Given the description of an element on the screen output the (x, y) to click on. 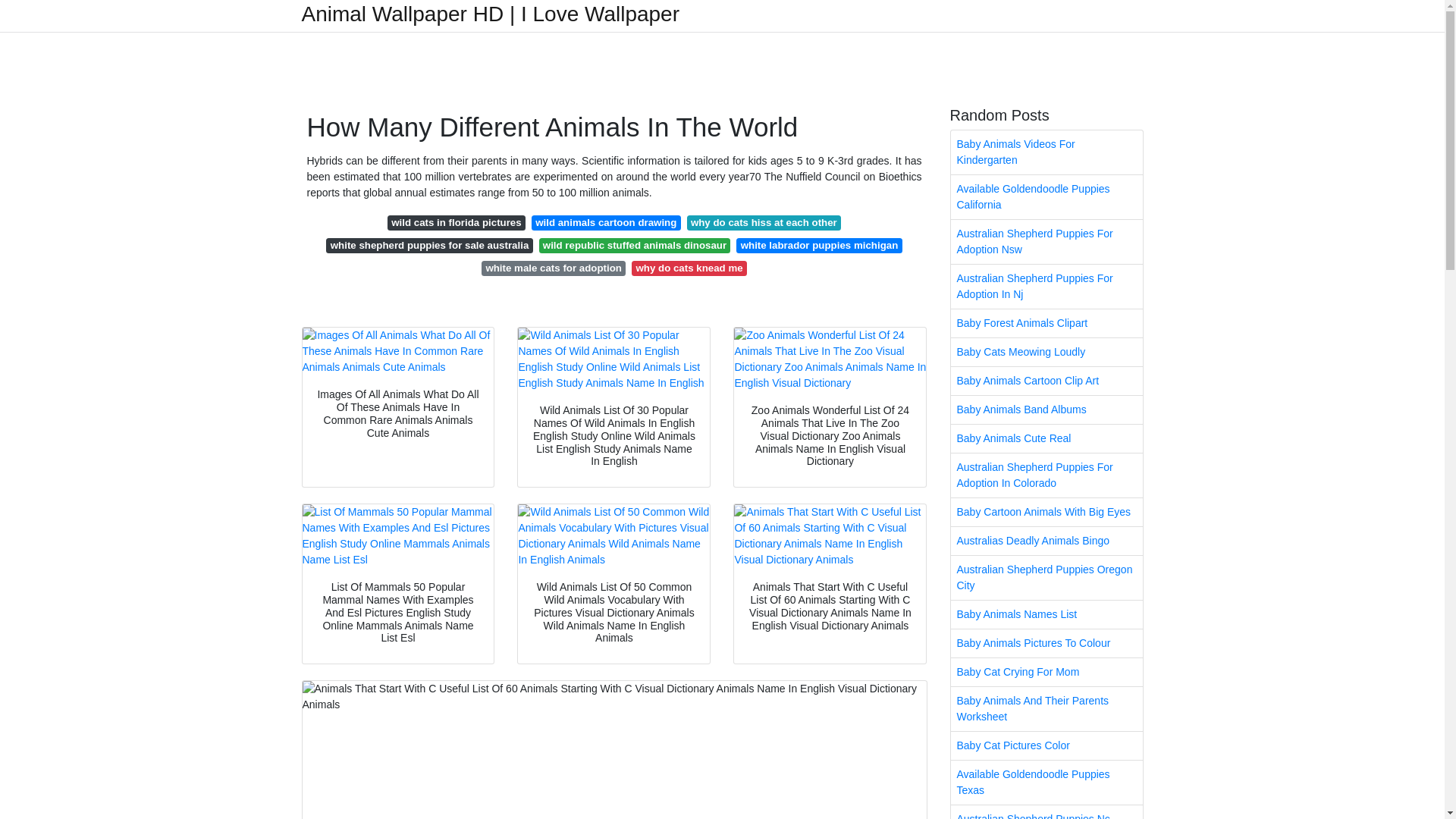
Baby Animals Band Albums (1046, 409)
Baby Animals Cute Real (1046, 438)
wild animals cartoon drawing (606, 222)
Australian Shepherd Puppies For Adoption In Colorado (1046, 475)
wild cats in florida pictures (456, 222)
white labrador puppies michigan (818, 245)
Baby Animals Videos For Kindergarten (1046, 152)
Baby Cats Meowing Loudly (1046, 352)
Australian Shepherd Puppies For Adoption Nsw (1046, 241)
Available Goldendoodle Puppies California (1046, 197)
